Given the description of an element on the screen output the (x, y) to click on. 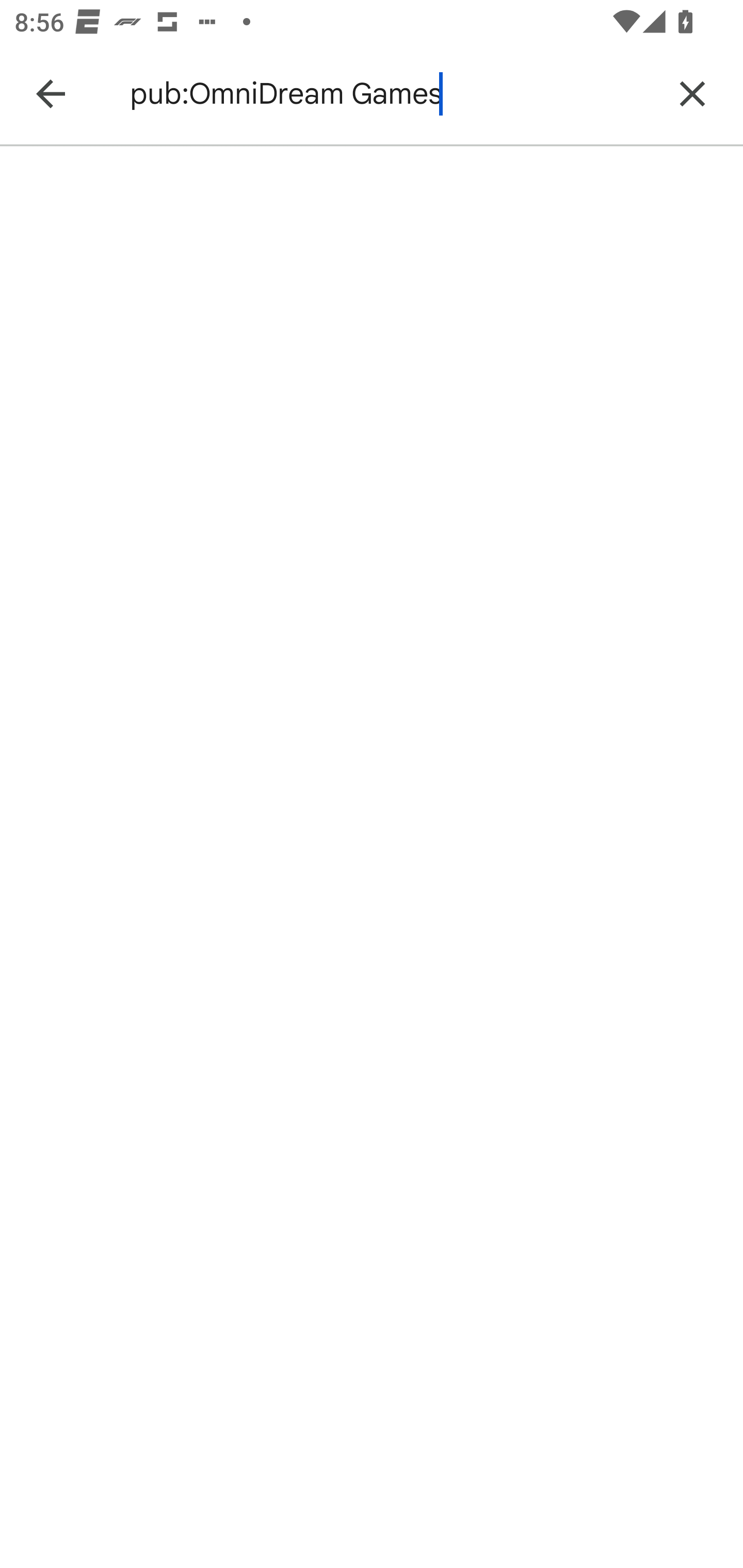
Navigate up (50, 93)
pub:OmniDream Games (389, 93)
Clear (692, 93)
